Given the description of an element on the screen output the (x, y) to click on. 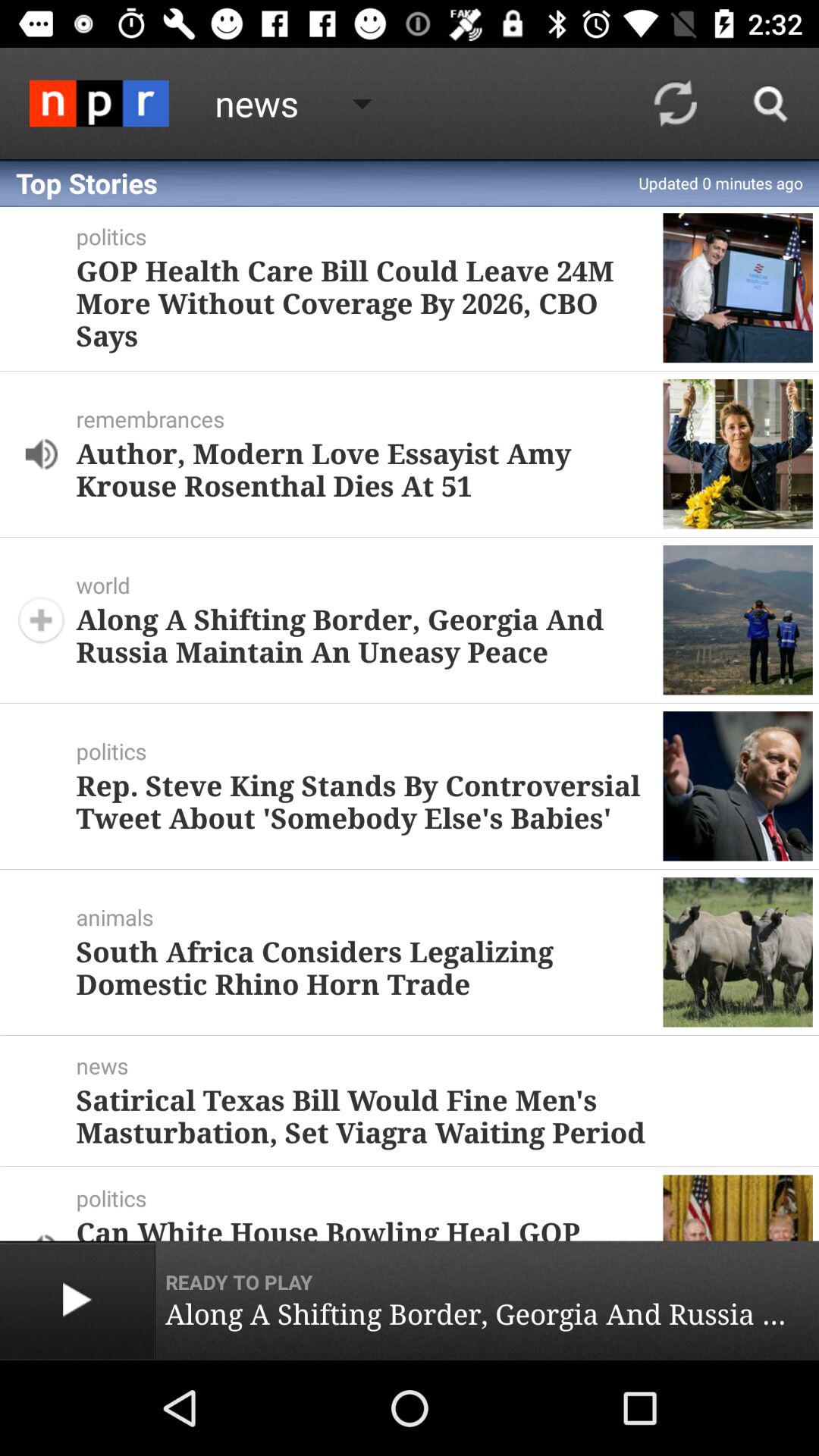
press the item below the animals item (363, 967)
